Given the description of an element on the screen output the (x, y) to click on. 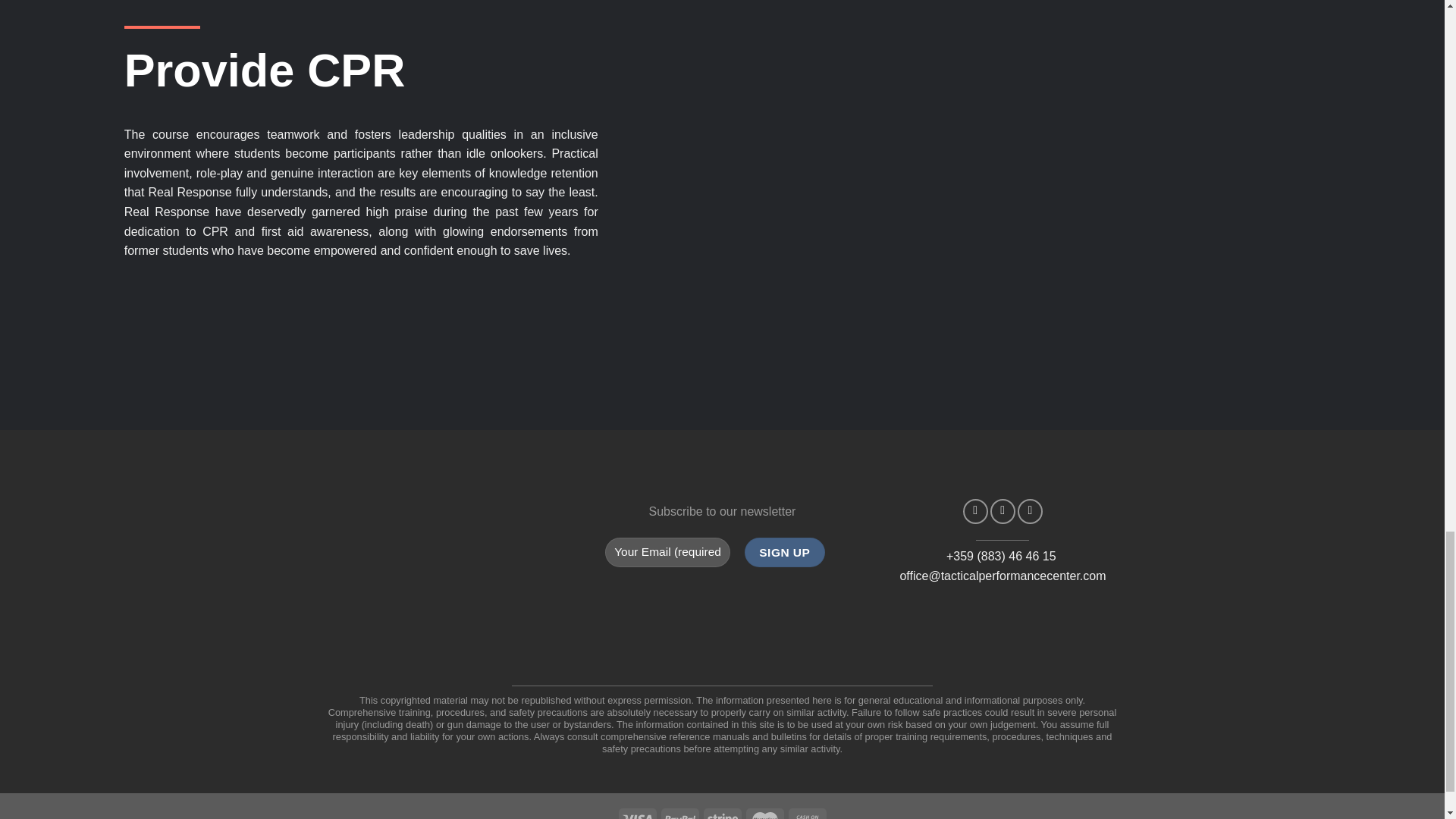
Sign Up (784, 552)
Follow on Facebook (975, 511)
CPR (215, 231)
Follow on YouTube (1029, 511)
Follow on Instagram (1002, 511)
Sign Up (784, 552)
